Given the description of an element on the screen output the (x, y) to click on. 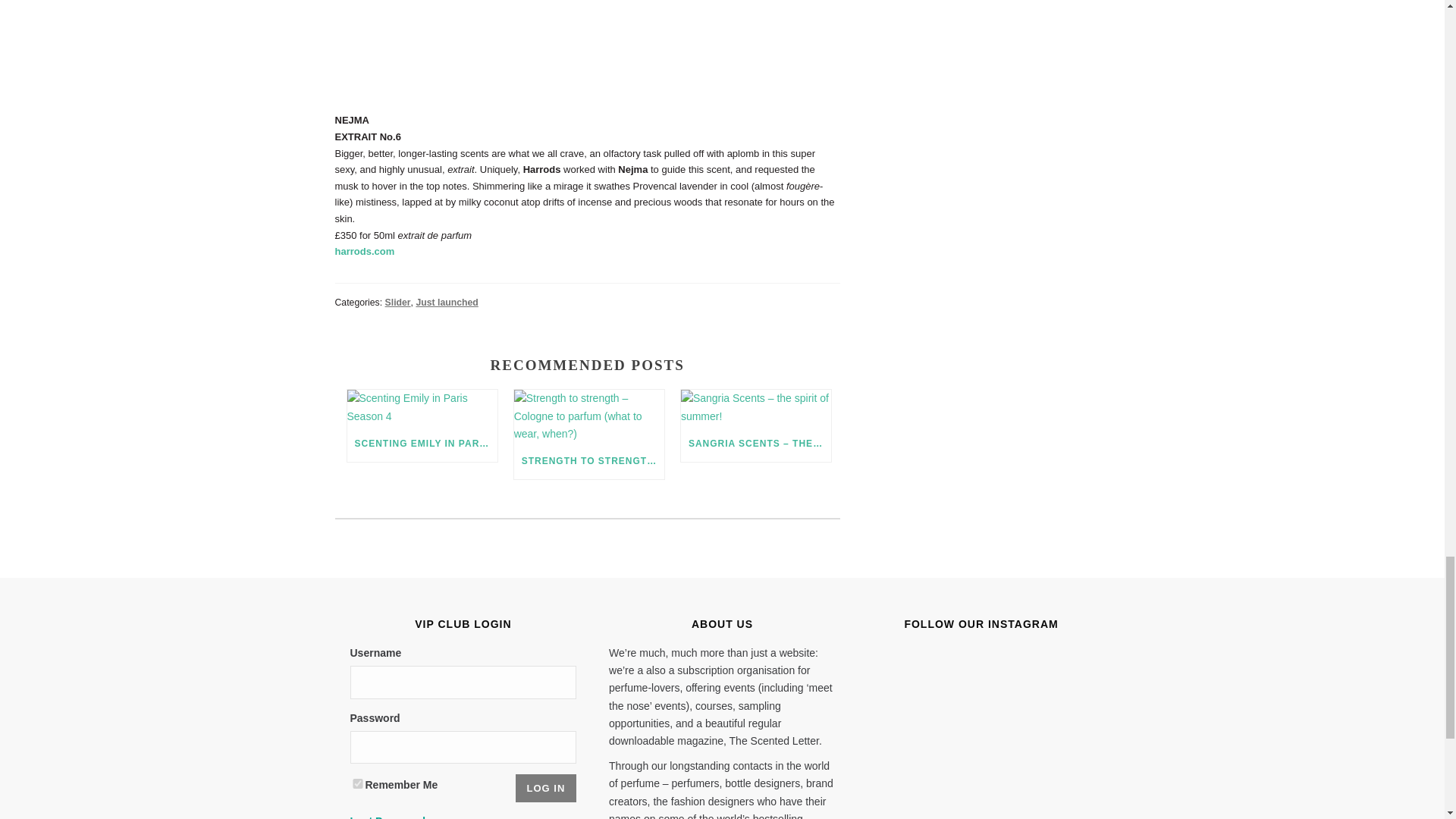
forever (357, 783)
Scenting Emily in Paris Season 4 (422, 407)
Log In (545, 787)
